Given the description of an element on the screen output the (x, y) to click on. 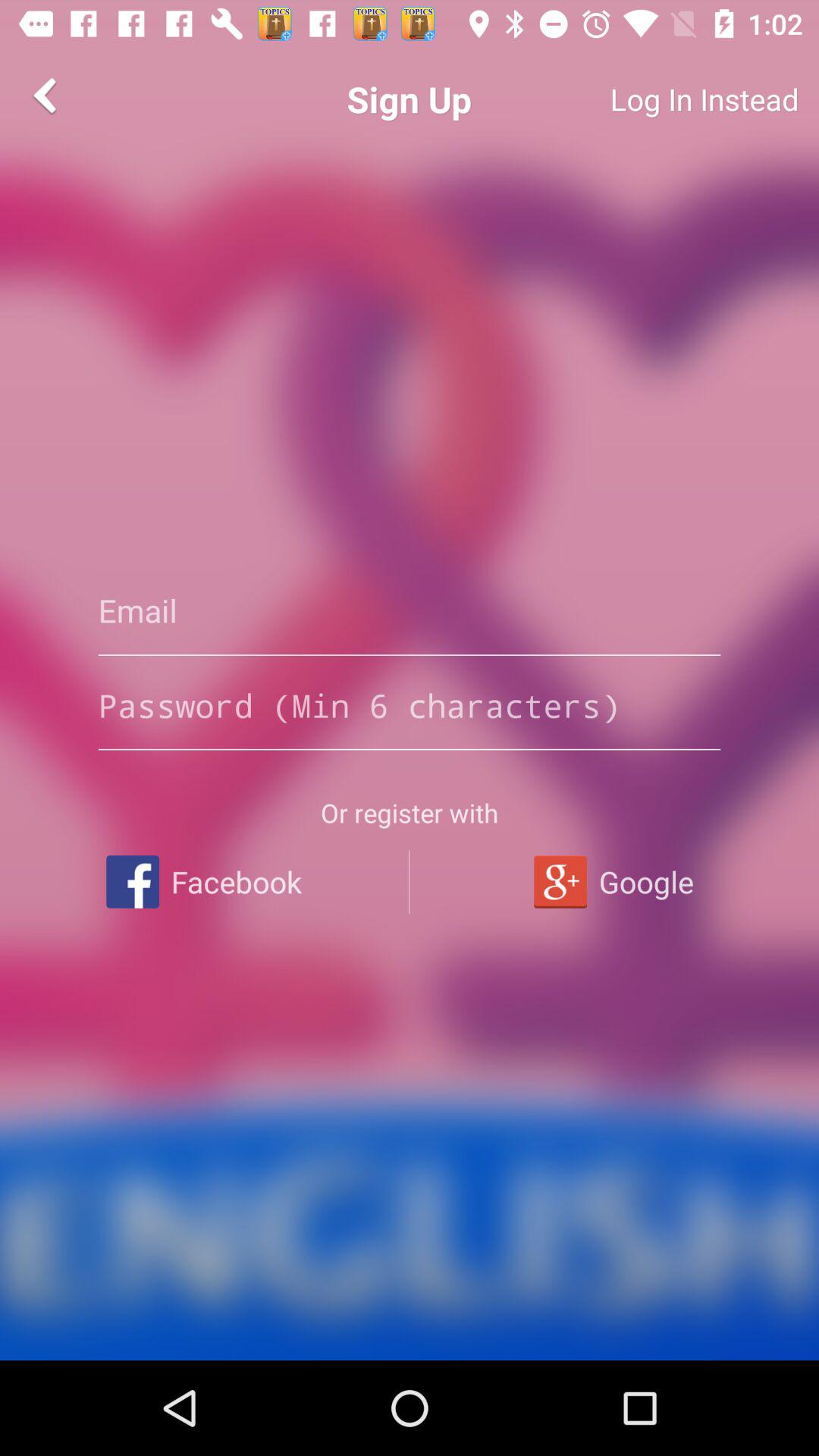
turn off the item next to the sign up app (47, 95)
